Given the description of an element on the screen output the (x, y) to click on. 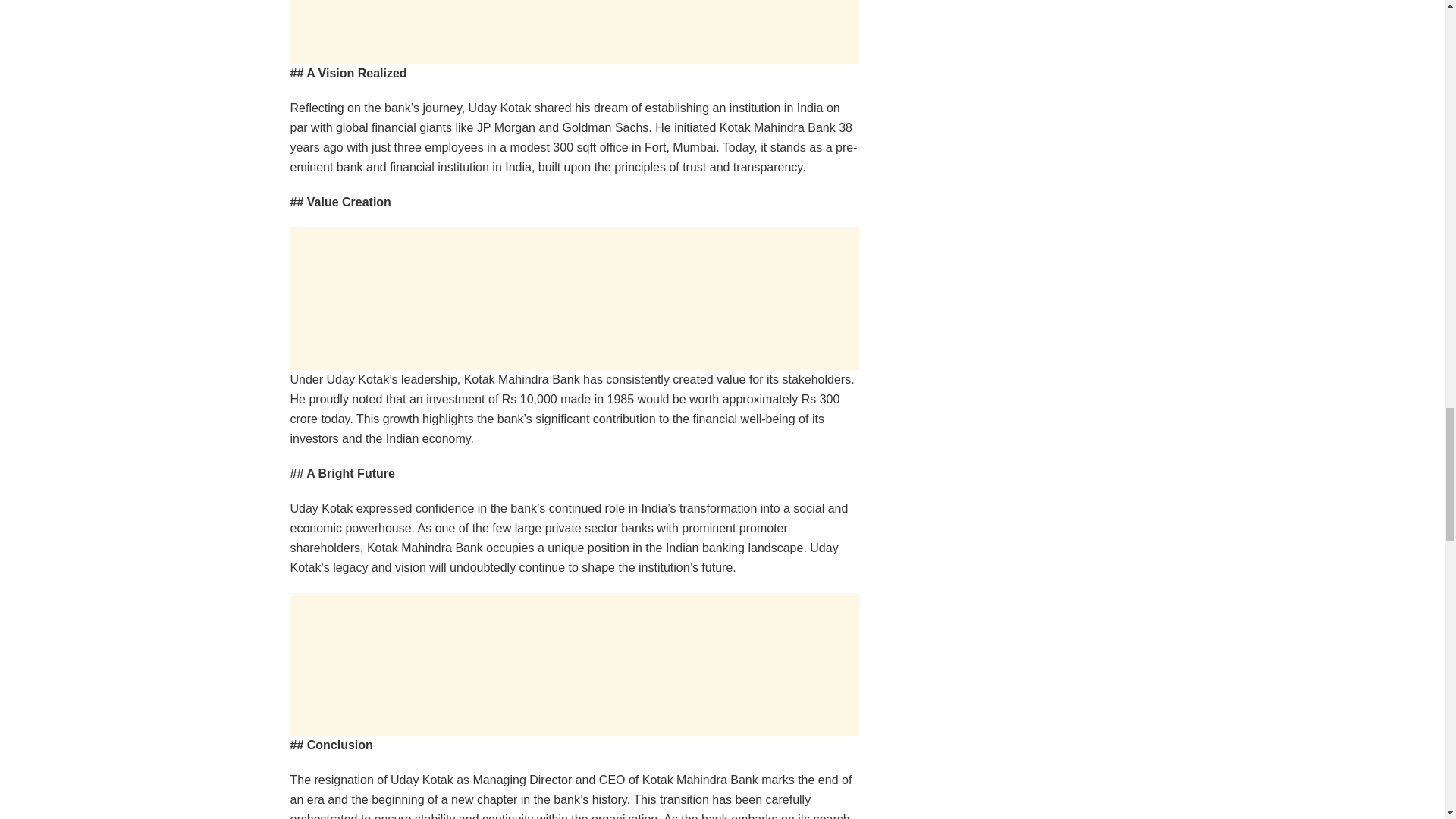
Advertisement (574, 298)
Advertisement (574, 31)
Advertisement (574, 663)
